Given the description of an element on the screen output the (x, y) to click on. 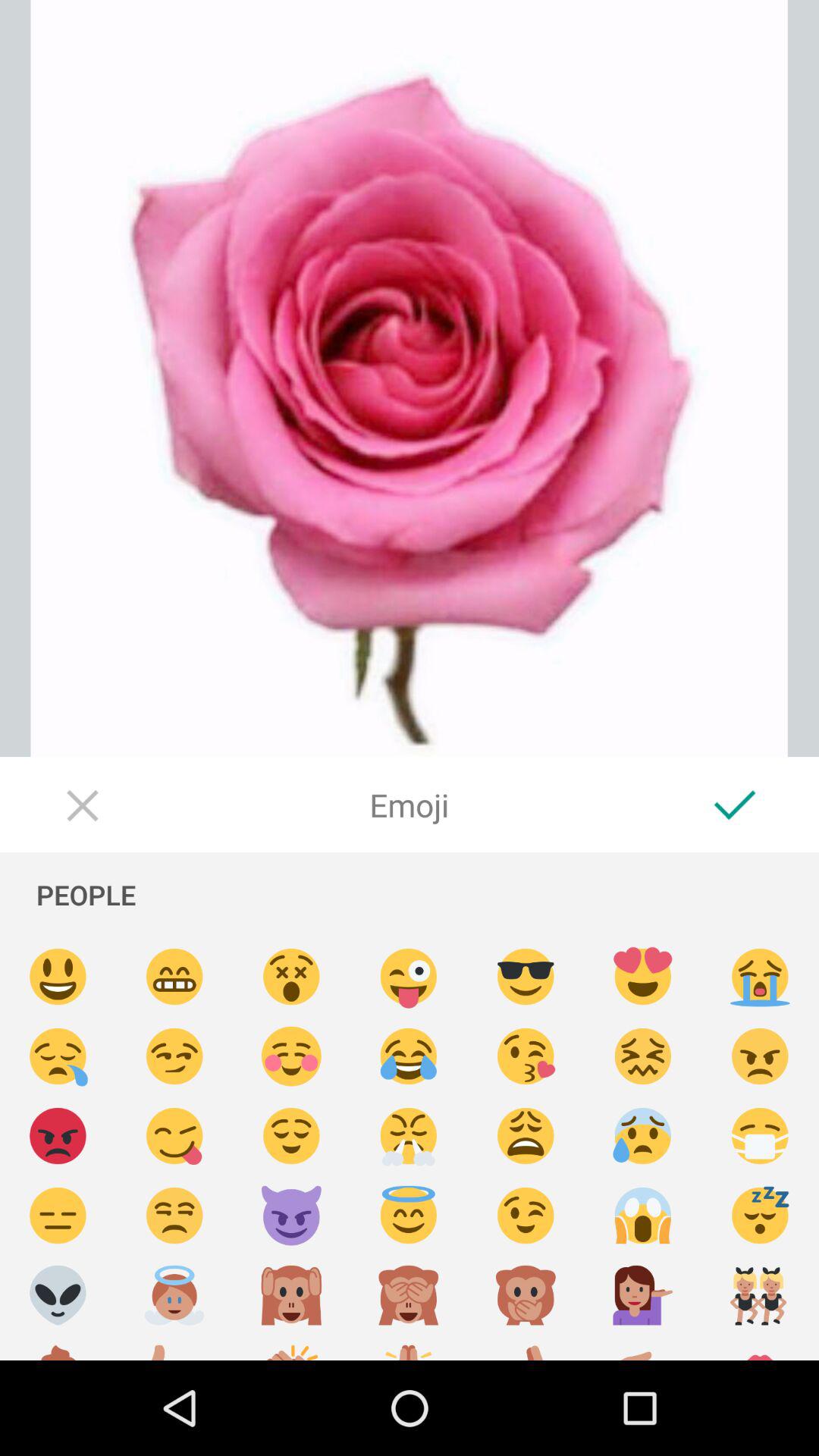
kissing with heart emoji (525, 1056)
